Given the description of an element on the screen output the (x, y) to click on. 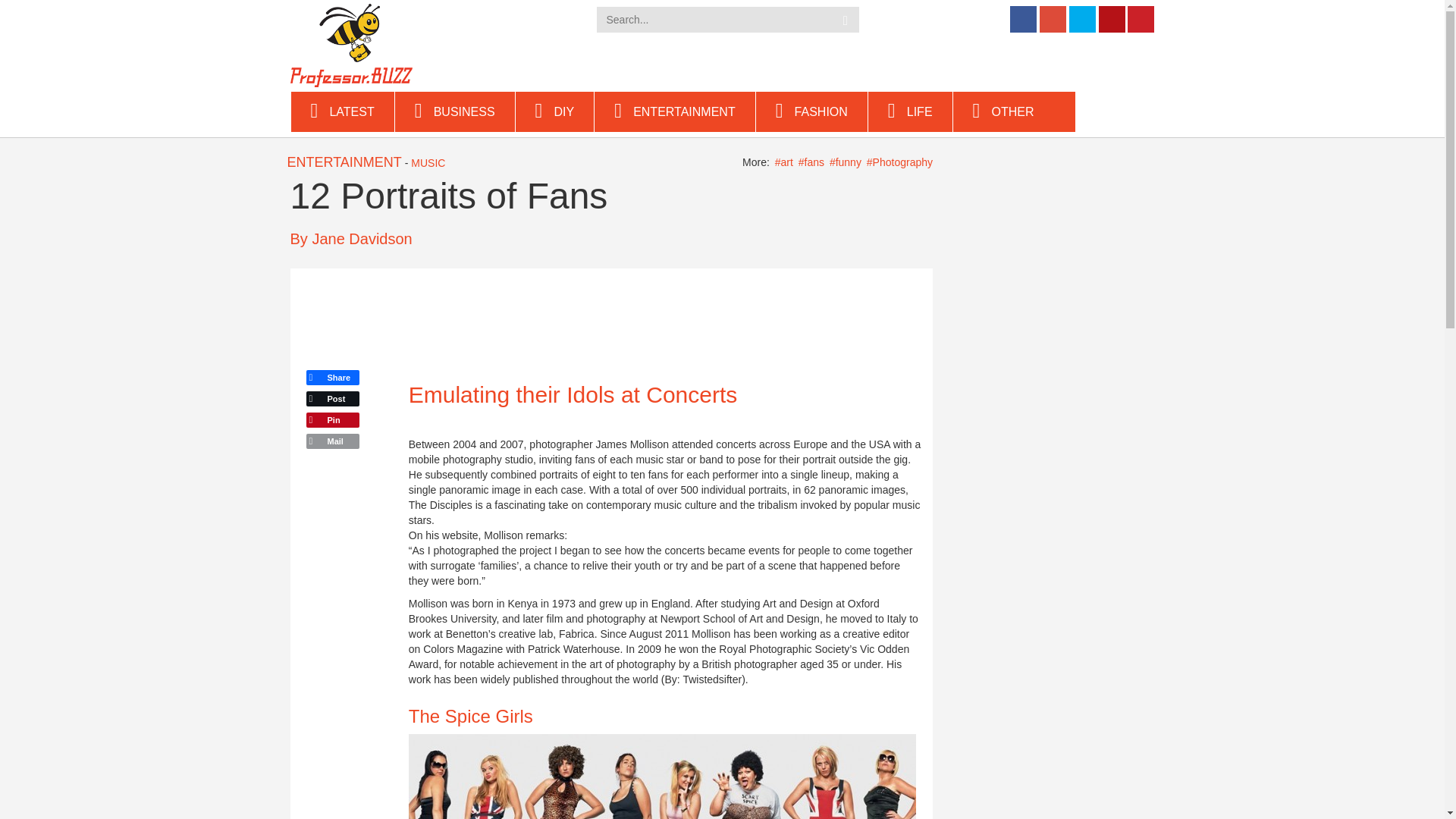
Professor.BUZZ (350, 44)
ENTERTAINMENT (674, 111)
OTHER (1014, 111)
LIFE (910, 111)
Email This (332, 441)
Facebook (332, 377)
Advertisement (582, 317)
Entertainment (343, 161)
FASHION (811, 111)
Pinterest (332, 419)
Music (427, 162)
LATEST (342, 111)
MUSIC (427, 162)
BUSINESS (454, 111)
DIY (555, 111)
